Given the description of an element on the screen output the (x, y) to click on. 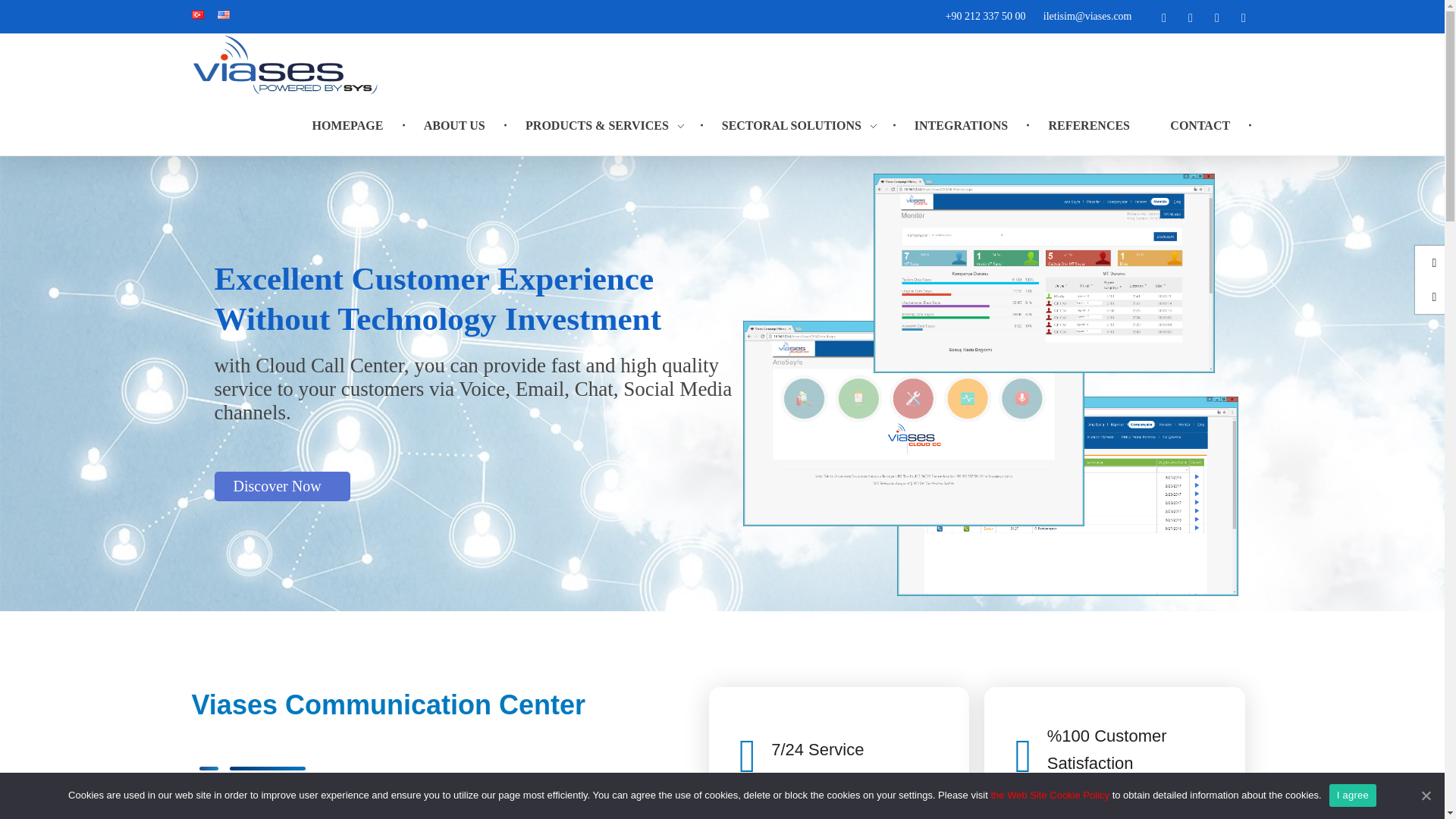
CONTACT (1202, 123)
HOMEPAGE (358, 16)
INTEGRATIONS (963, 121)
ABOUT US (457, 16)
Discover Now (281, 486)
SECTORAL SOLUTIONS (800, 109)
English (222, 14)
REFERENCES (1091, 122)
